Given the description of an element on the screen output the (x, y) to click on. 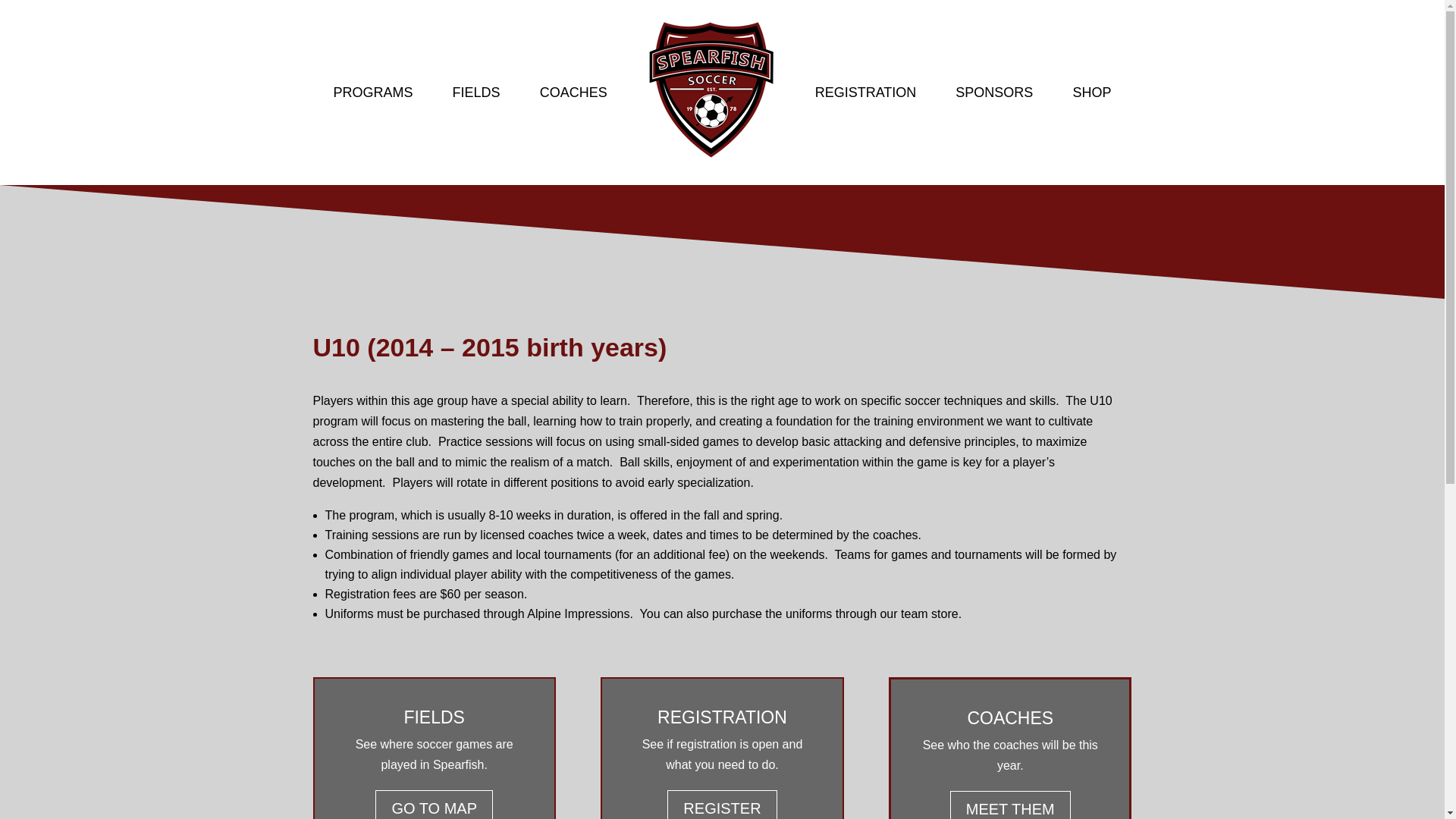
GO TO MAP (434, 804)
REGISTER (721, 804)
MEET THEM (1010, 805)
